Given the description of an element on the screen output the (x, y) to click on. 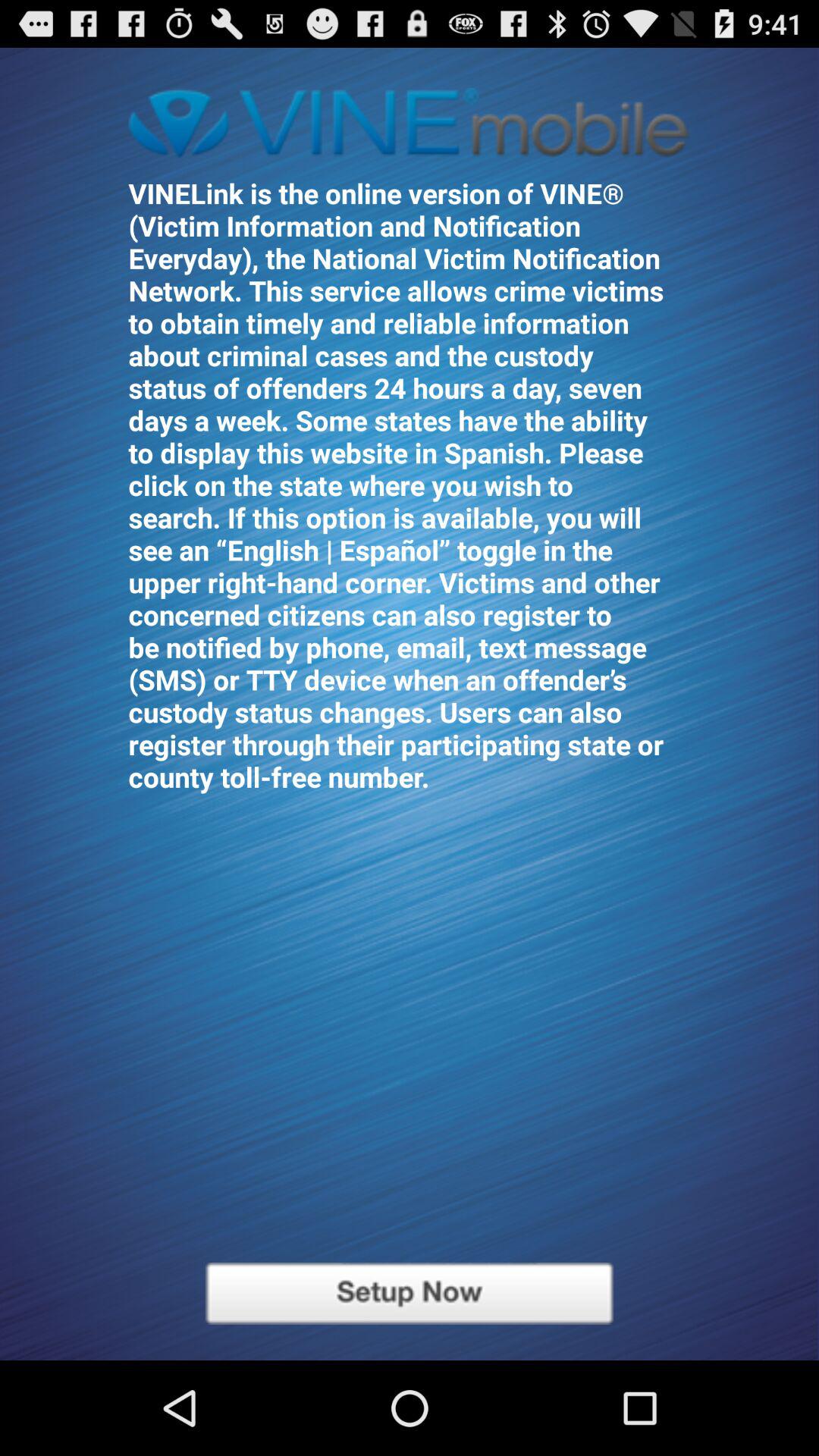
tap icon at the bottom (409, 1293)
